Given the description of an element on the screen output the (x, y) to click on. 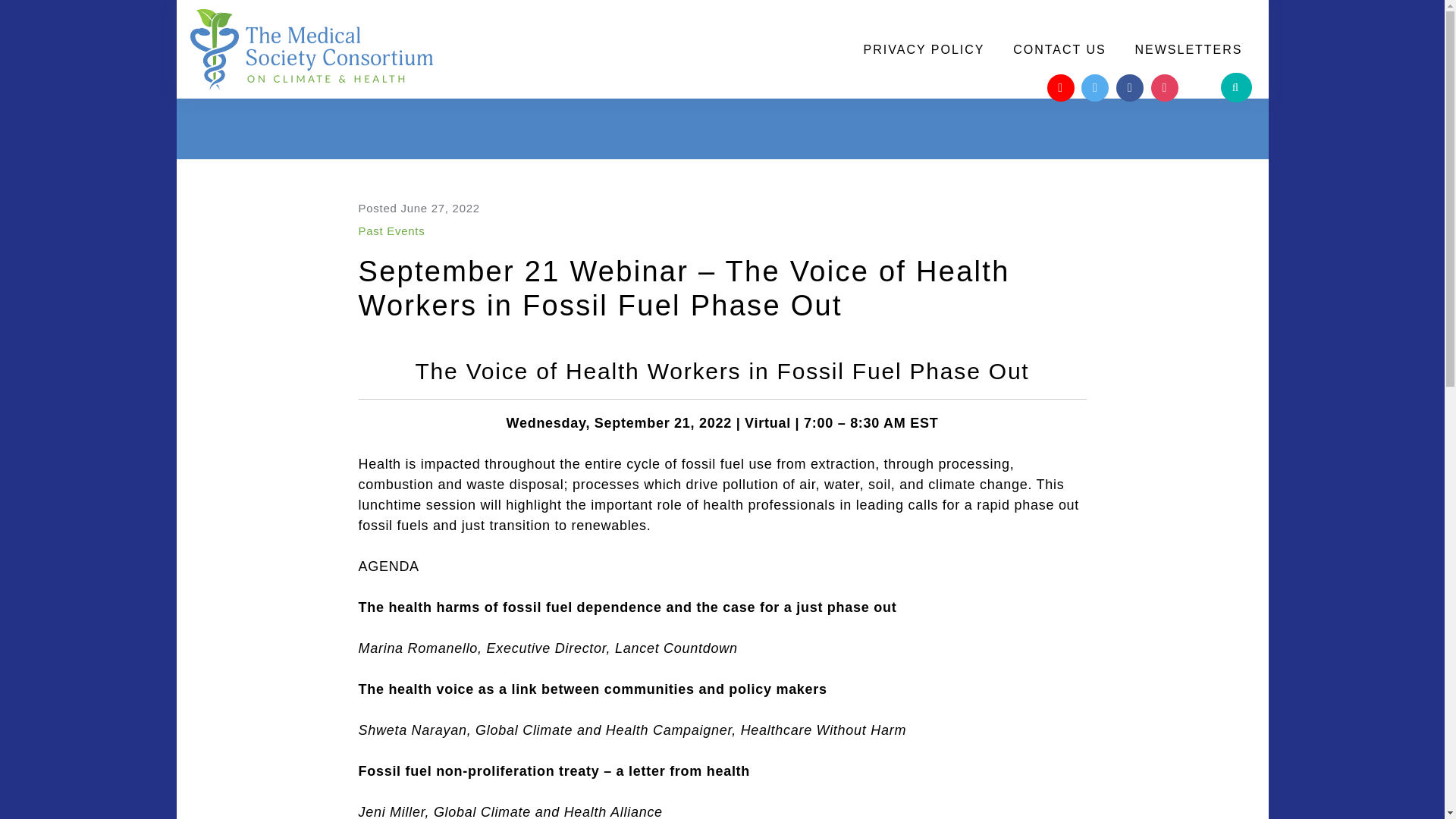
Past Events (391, 230)
NEWSLETTERS (1187, 49)
CONTACT US (1059, 49)
Find us on Instagram (1164, 87)
Follow us on Twitter (1094, 87)
PRIVACY POLICY (924, 49)
Like us on Facebook (1129, 87)
Watch us on YouTube (1060, 87)
